Given the description of an element on the screen output the (x, y) to click on. 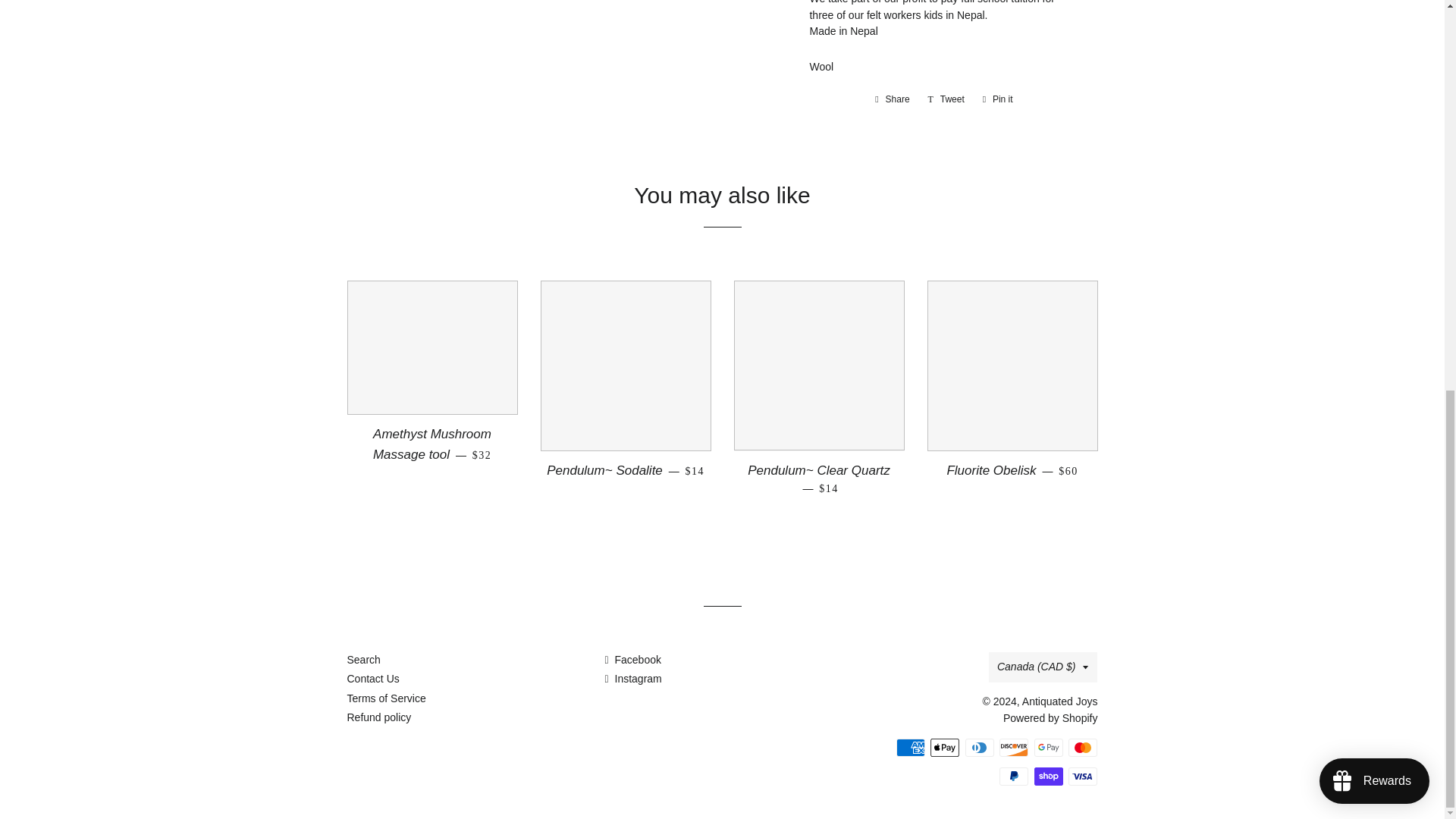
Apple Pay (944, 747)
Mastercard (946, 98)
Shop Pay (1082, 747)
Antiquated Joys on Instagram (997, 98)
Discover (1047, 776)
Antiquated Joys on Facebook (632, 678)
Visa (1012, 747)
Pin on Pinterest (632, 659)
